Given the description of an element on the screen output the (x, y) to click on. 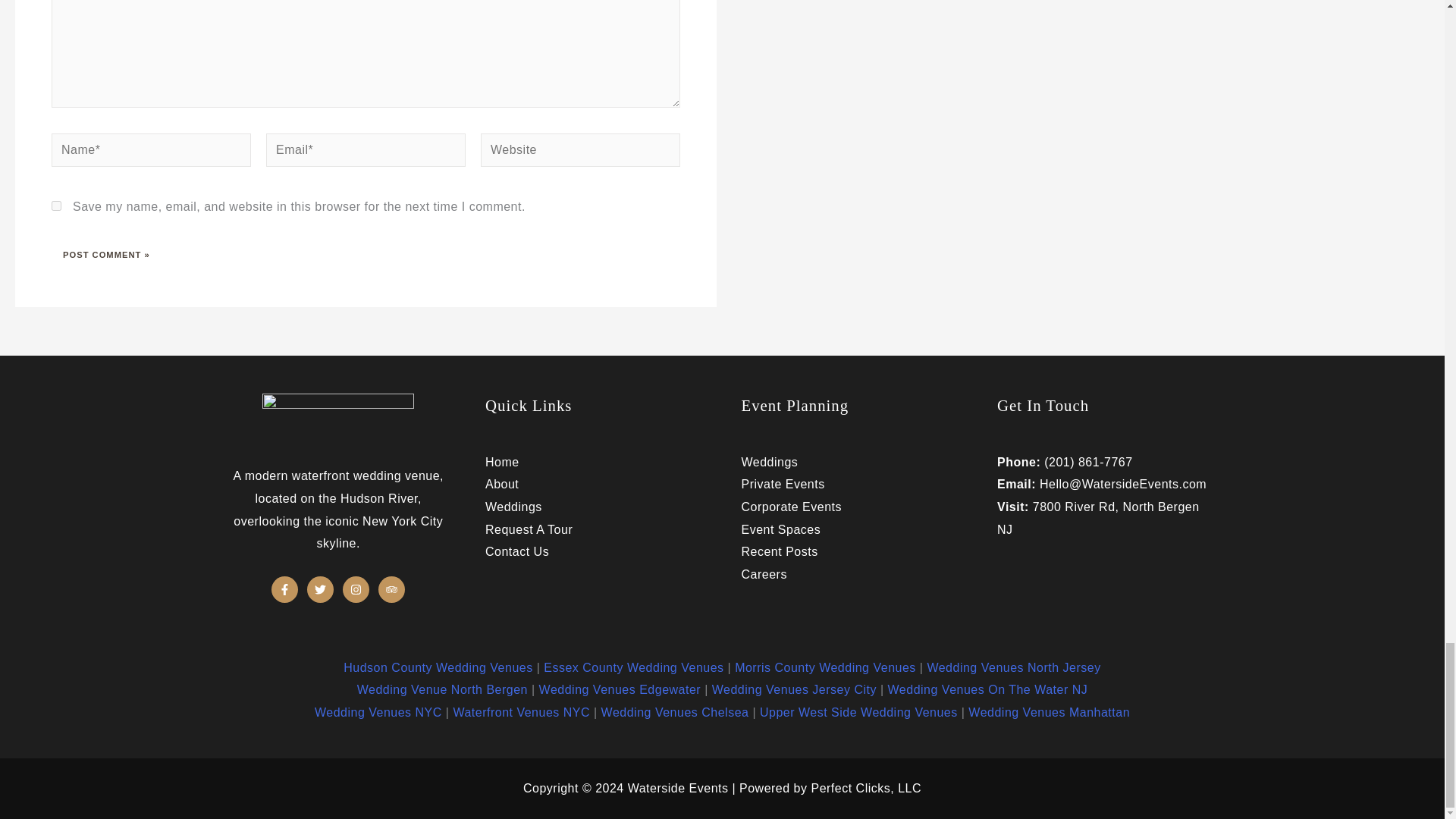
yes (55, 205)
